Given the description of an element on the screen output the (x, y) to click on. 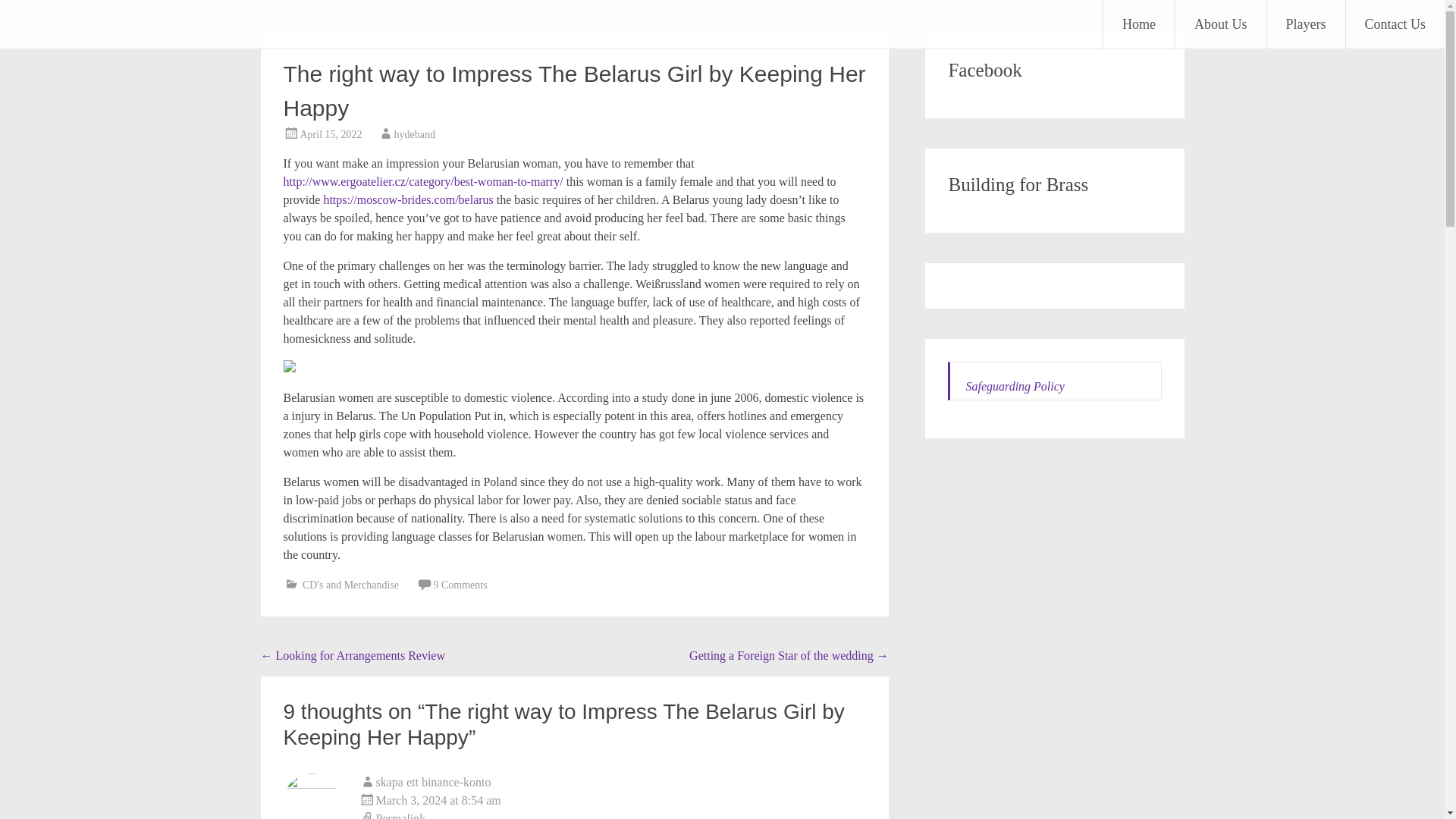
skapa ett binance-konto (433, 781)
April 15, 2022 (330, 134)
Hyde Band (86, 23)
hydeband (414, 134)
Hyde Band (86, 23)
Players (1304, 24)
Home (1138, 24)
About Us (1220, 24)
CD's and Merchandise (350, 584)
9 Comments (459, 584)
Permalink (612, 814)
